Given the description of an element on the screen output the (x, y) to click on. 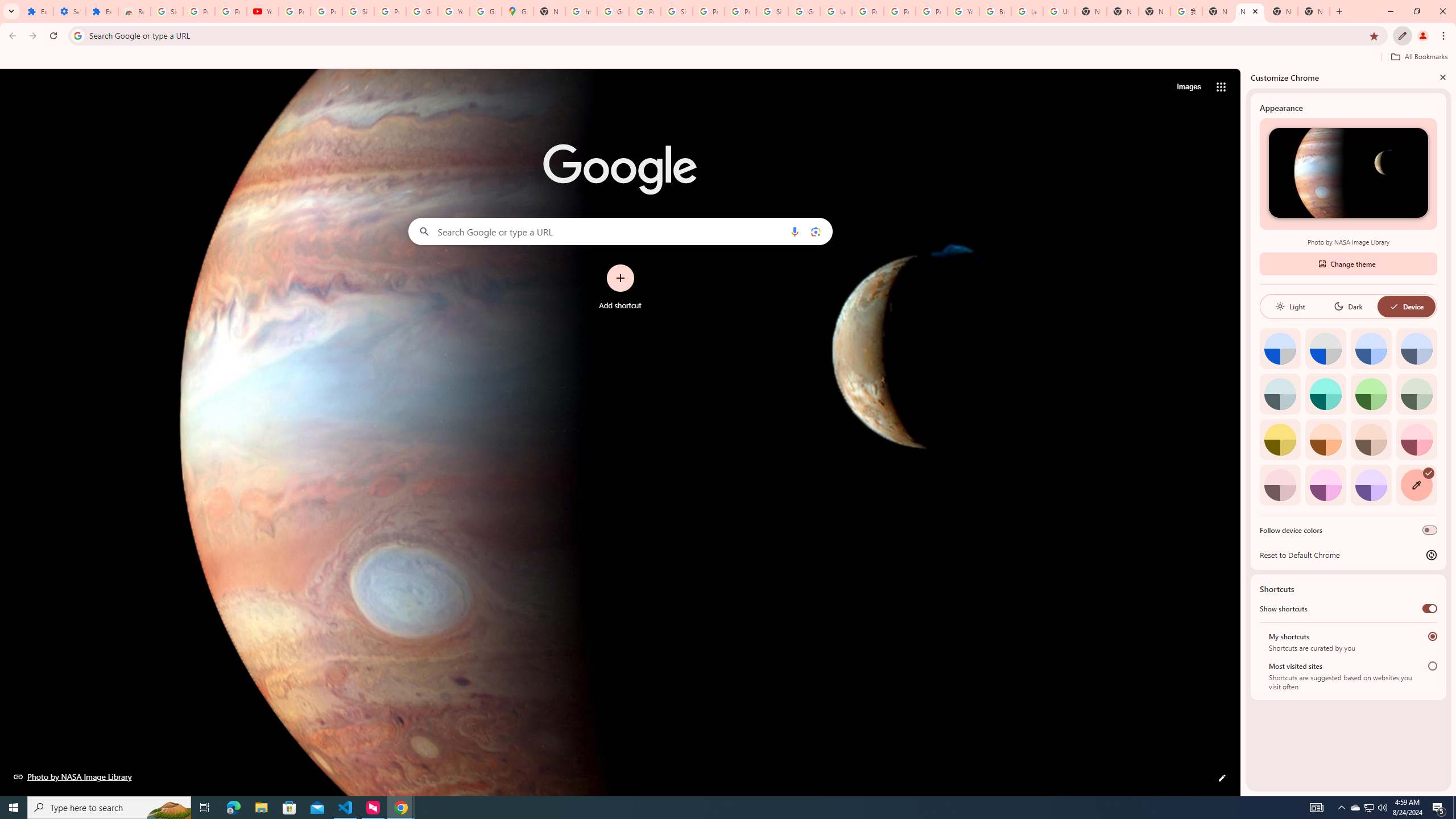
Rose (1416, 439)
YouTube (453, 11)
Sign in - Google Accounts (772, 11)
Cool grey (1416, 348)
Change theme (1348, 263)
Grey default color (1325, 348)
Reviews: Helix Fruit Jump Arcade Game (134, 11)
